Given the description of an element on the screen output the (x, y) to click on. 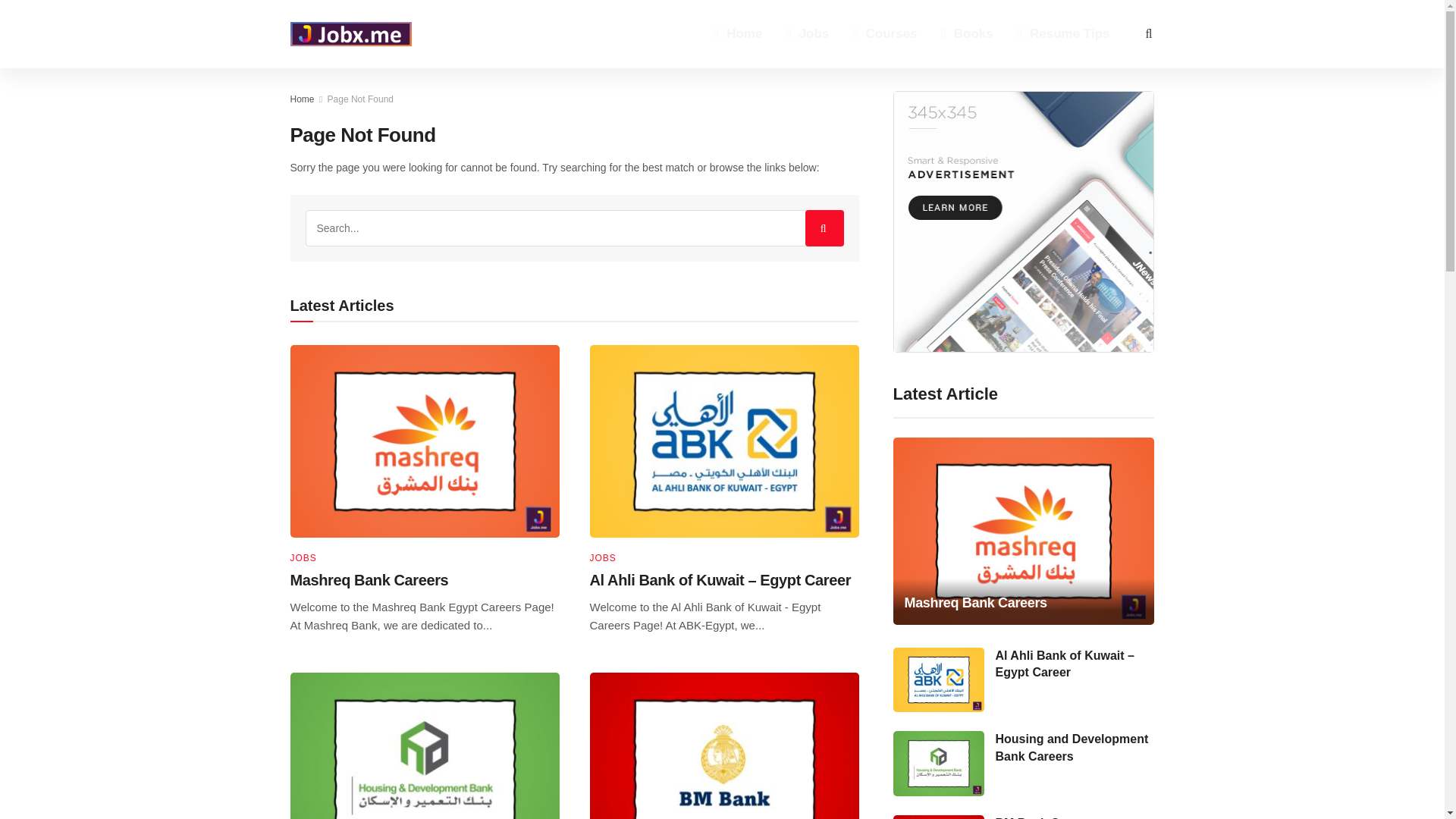
JOBS (302, 557)
Books (968, 33)
Home (301, 99)
Jobs (807, 33)
Courses (884, 33)
Mashreq Bank Careers (368, 579)
Resume Tips (1064, 33)
Page Not Found (360, 99)
JOBS (602, 557)
Home (737, 33)
